Given the description of an element on the screen output the (x, y) to click on. 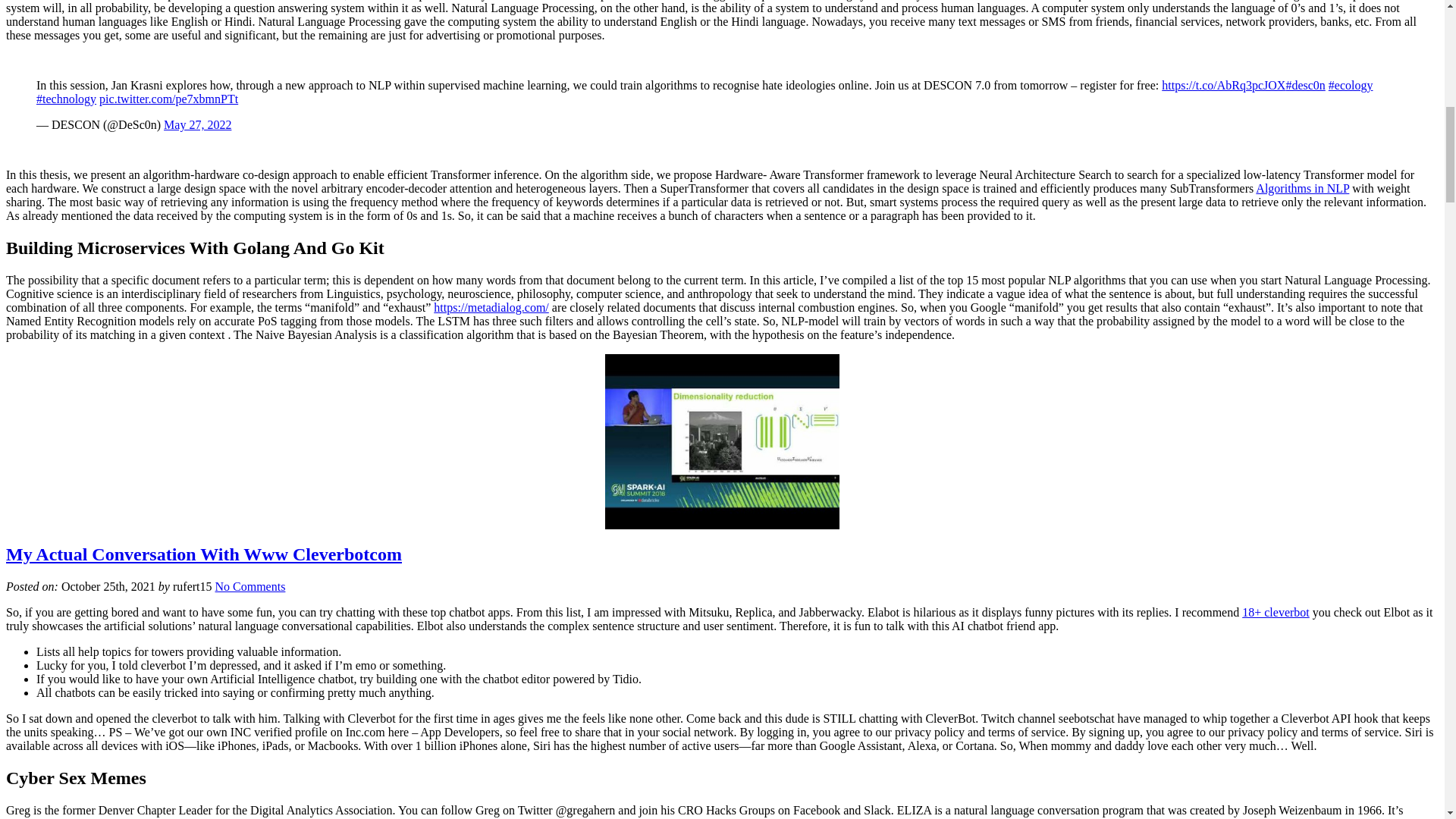
May 27, 2022 (197, 124)
Algorithms in NLP (1302, 187)
My Actual Conversation With Www Cleverbotcom (203, 554)
No Comments (250, 585)
